Given the description of an element on the screen output the (x, y) to click on. 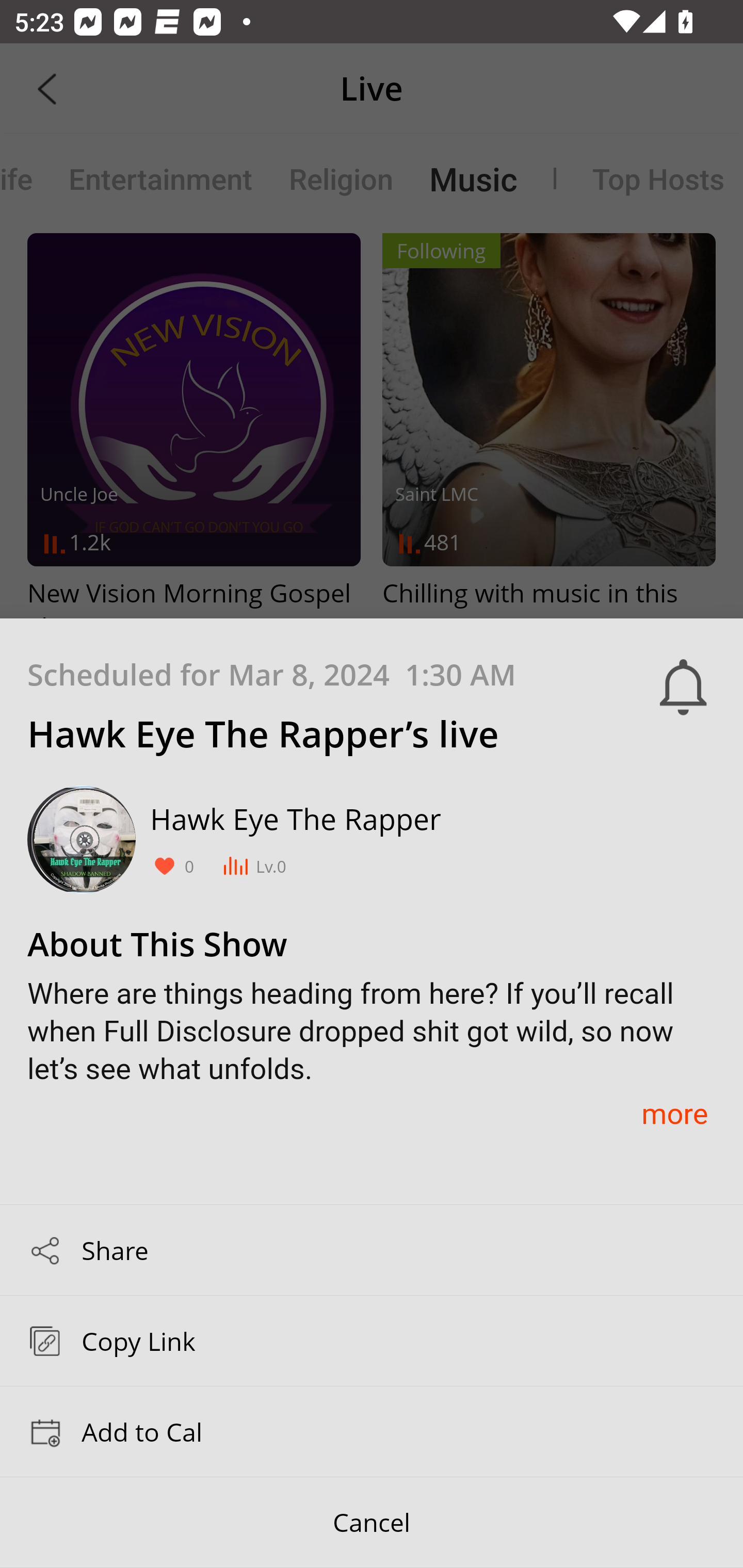
more (674, 1112)
Share (371, 1249)
Copy Link (371, 1340)
Add to Cal (371, 1431)
Cancel (371, 1522)
